Given the description of an element on the screen output the (x, y) to click on. 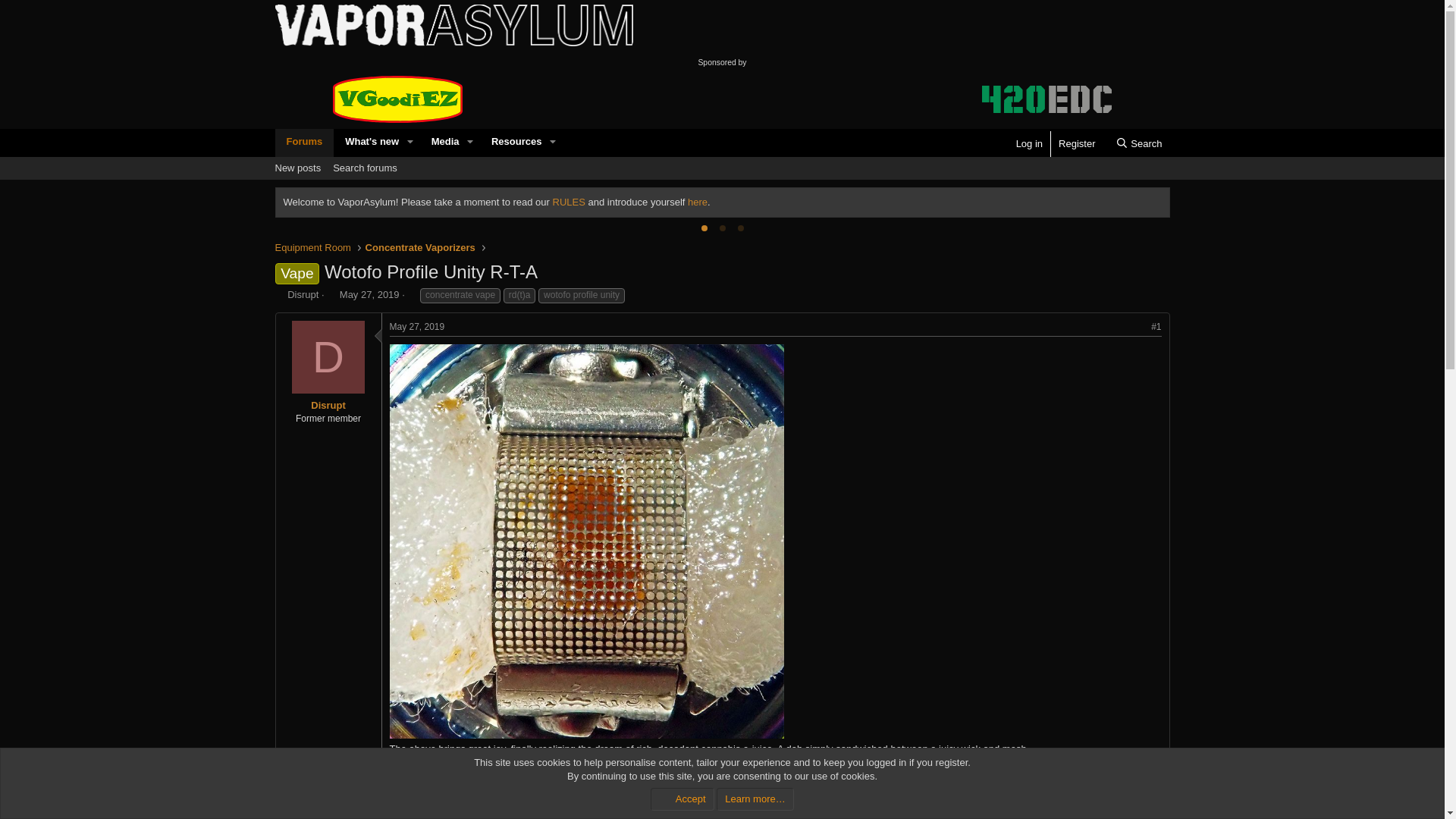
New posts (296, 168)
profile2.jpg (417, 159)
Forums (331, 294)
Search (304, 141)
What's new (1139, 144)
Search forums (366, 141)
Getting the good stuff was never so EZ (364, 168)
Tags (397, 99)
